Given the description of an element on the screen output the (x, y) to click on. 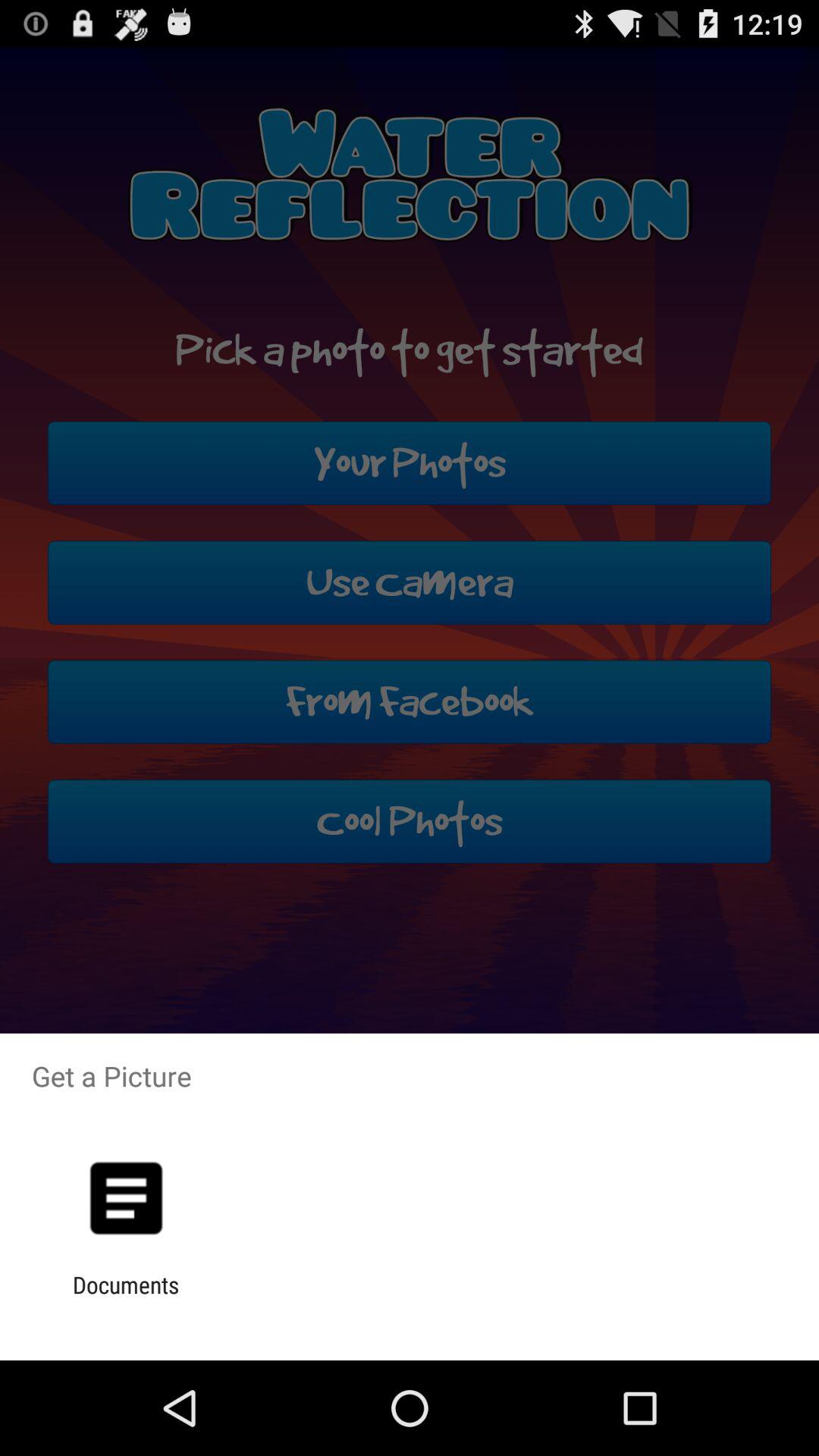
choose the icon below the get a picture item (126, 1198)
